Given the description of an element on the screen output the (x, y) to click on. 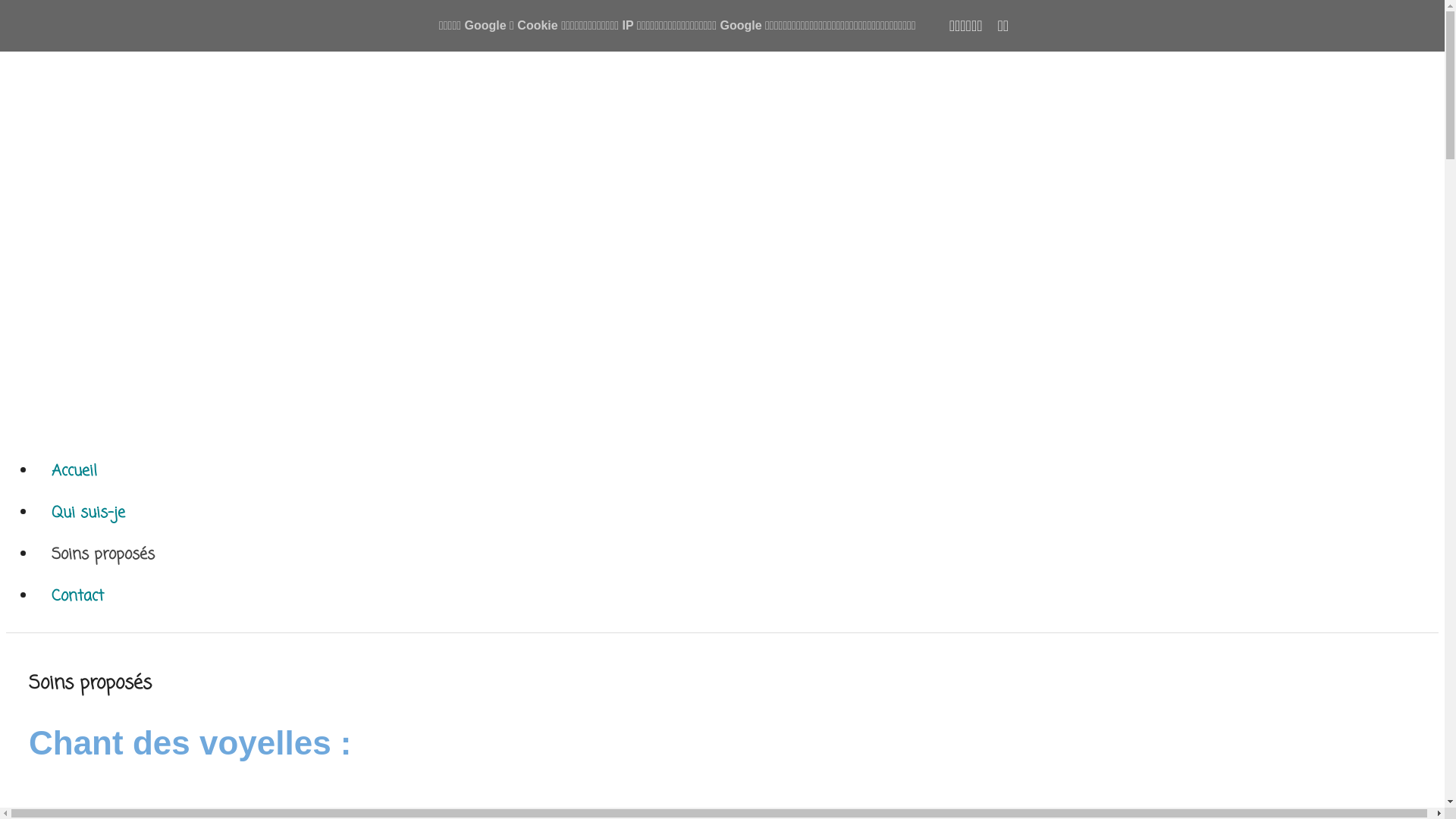
Qui suis-je Element type: text (88, 512)
Accueil Element type: text (74, 471)
Contact Element type: text (77, 596)
